Given the description of an element on the screen output the (x, y) to click on. 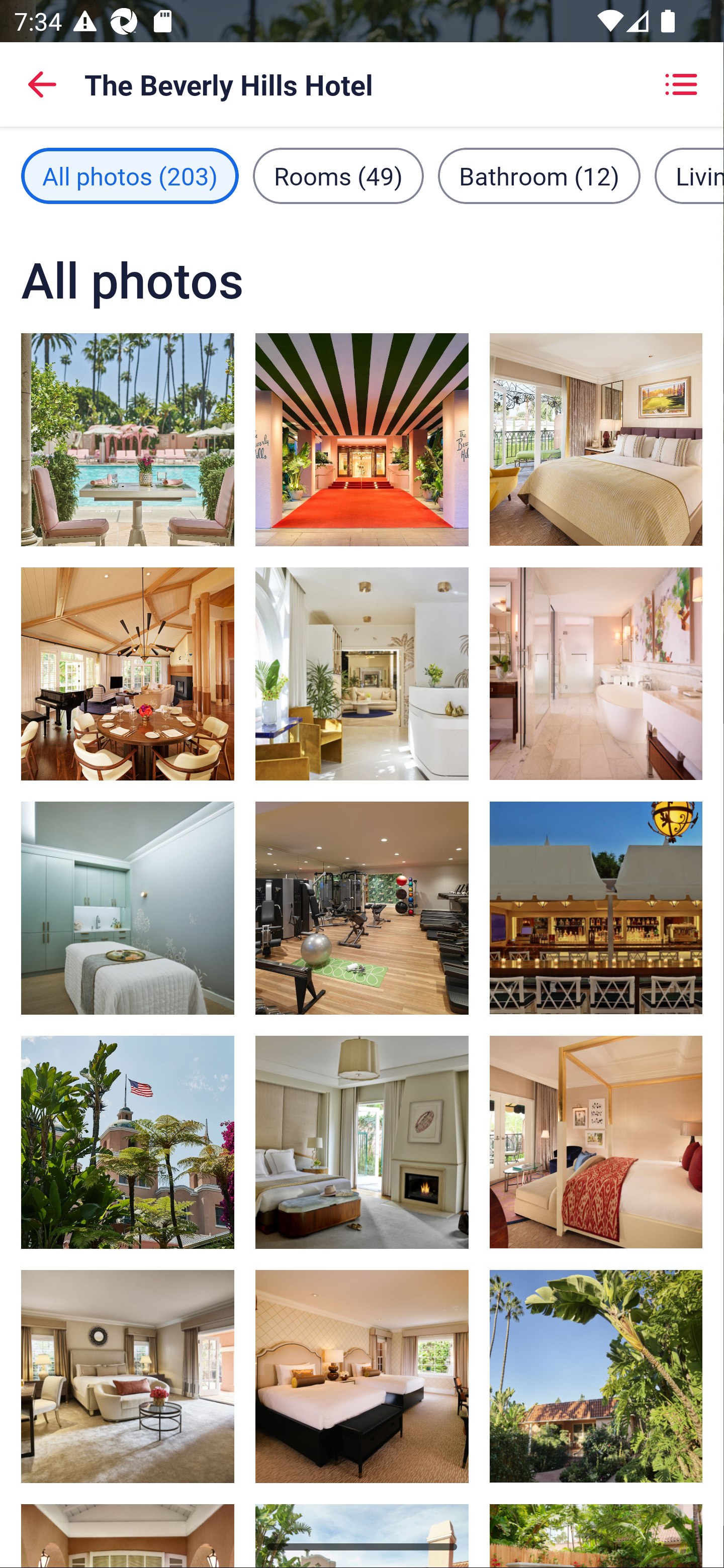
Back (42, 84)
Showing grid view (681, 84)
All photos filter, 203 images (129, 175)
Rooms filter, 49 images (337, 175)
Bathroom filter, 12 images (539, 175)
Property entrance, image (361, 438)
Bungalow 22 | Dining room, image (127, 673)
Gym, image (361, 907)
Poolside bar, image (595, 907)
Front of property, image (127, 1142)
Crescent Bungalow Suite | Garden view, image (595, 1376)
